Given the description of an element on the screen output the (x, y) to click on. 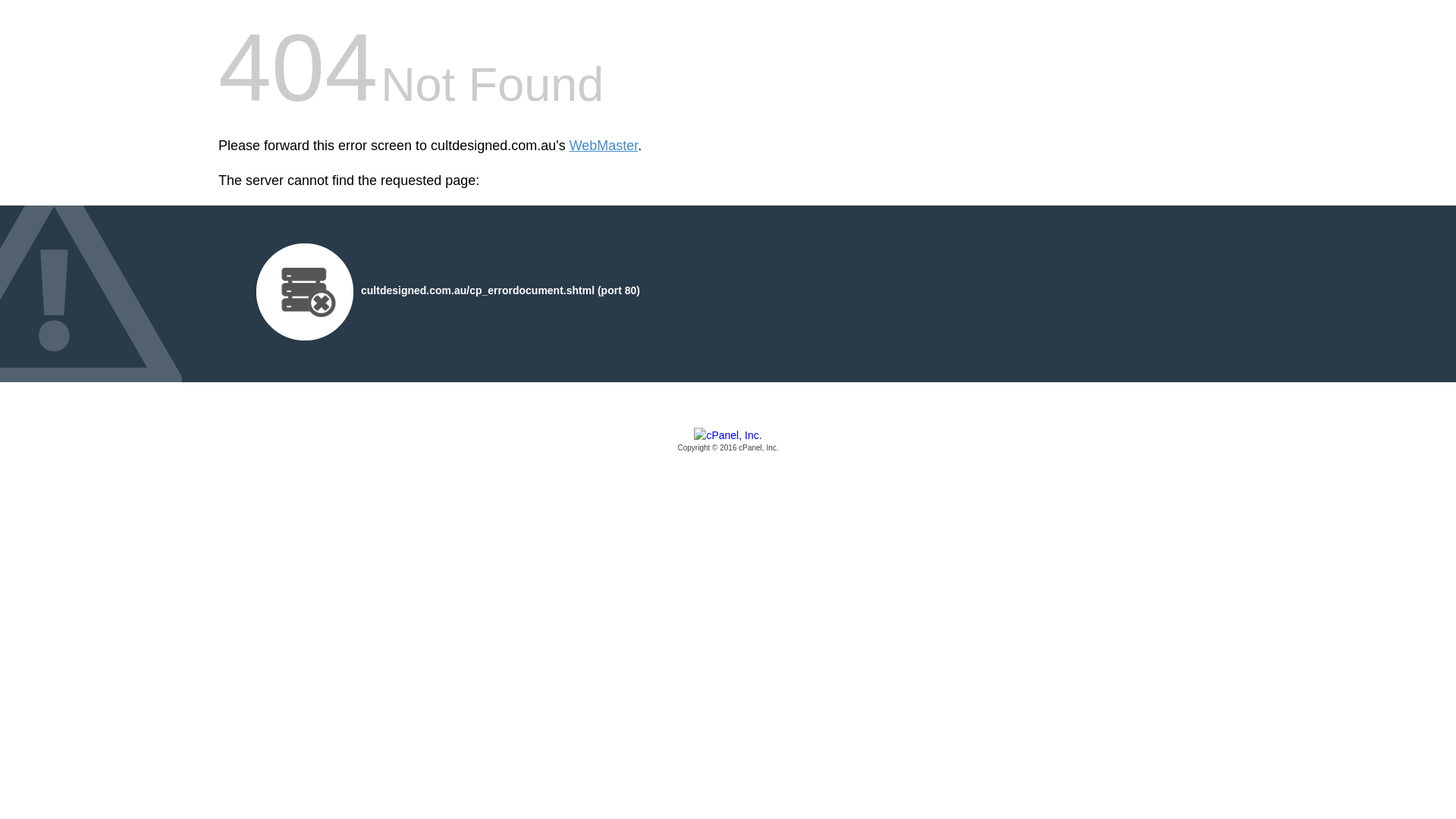
WebMaster Element type: text (603, 145)
